Given the description of an element on the screen output the (x, y) to click on. 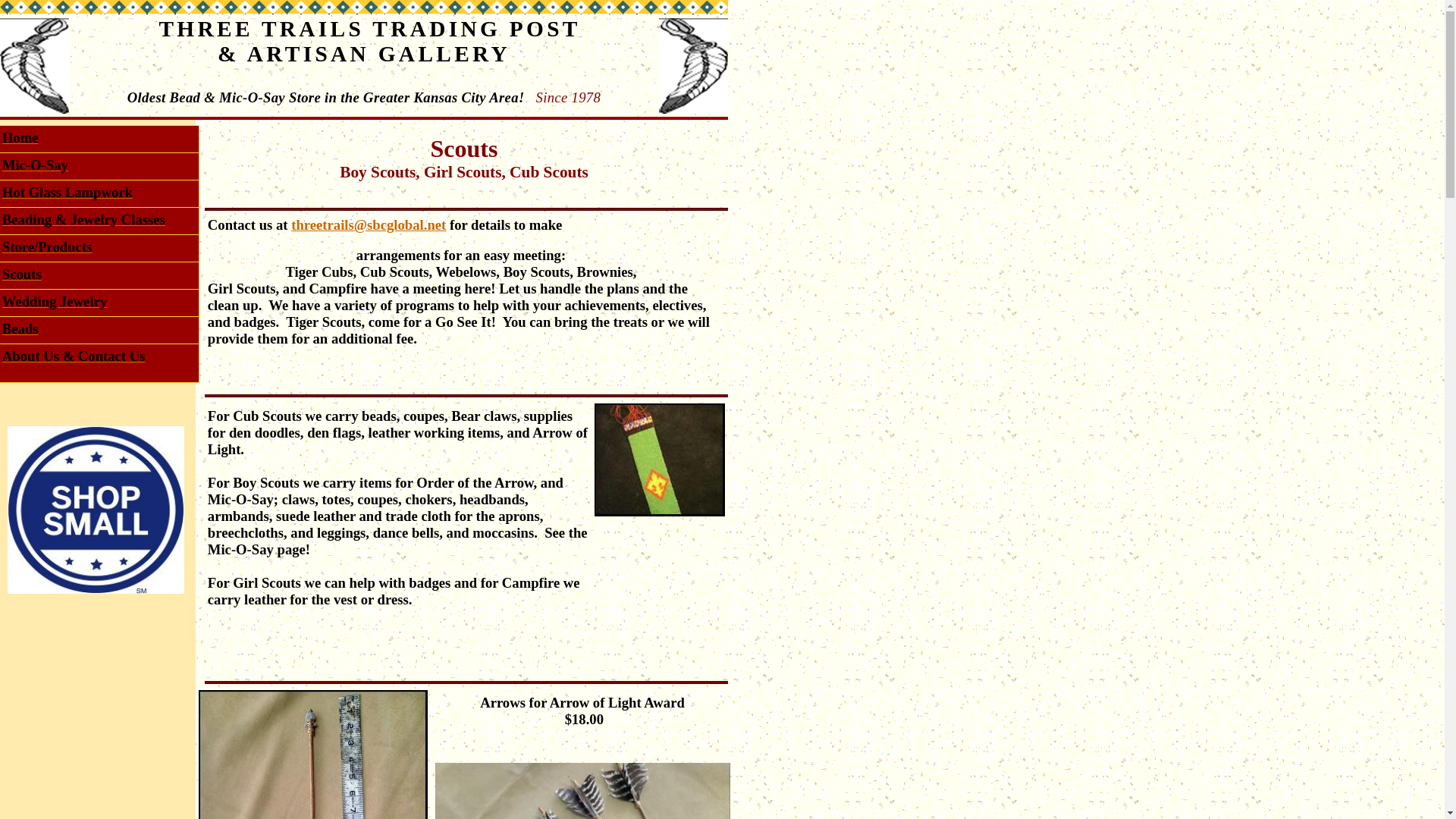
Beading & Jewelry Classes Element type: text (83, 220)
Wedding Jewelry Element type: text (54, 302)
Hot Glass Lampwork Element type: text (67, 193)
Store/Products Element type: text (47, 248)
Scouts Element type: text (21, 275)
About Us & Contact Us Element type: text (73, 357)
threetrails@sbcglobal.net Element type: text (368, 226)
Home Element type: text (20, 138)
Mic-O-Say Element type: text (35, 166)
Beads Element type: text (20, 329)
